Given the description of an element on the screen output the (x, y) to click on. 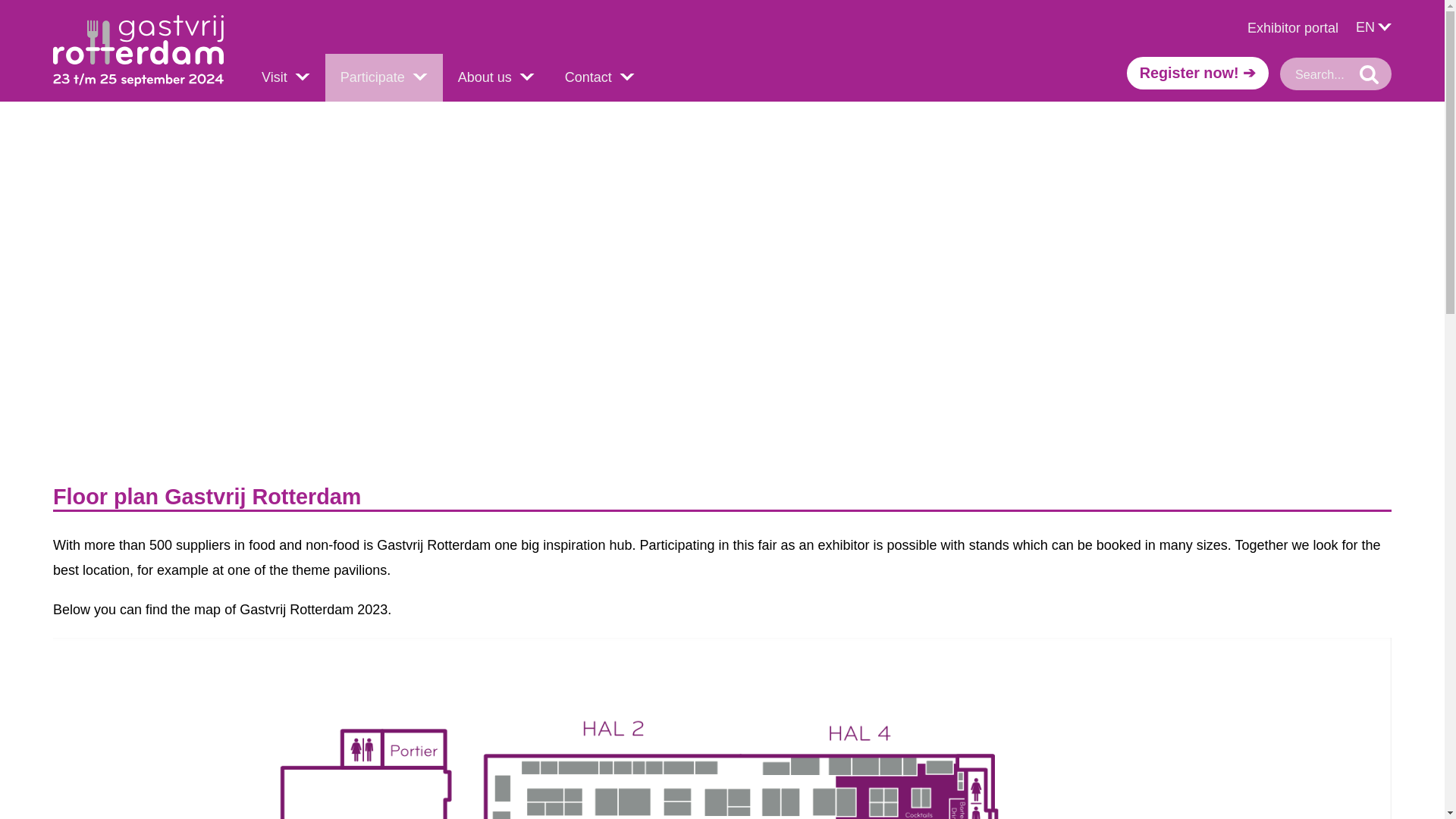
Visit (285, 77)
Participate (383, 77)
Contact (599, 77)
Exhibitor portal (1281, 27)
About us (496, 77)
Contact (599, 77)
About us (496, 77)
Visit (285, 77)
Participate (383, 77)
